Given the description of an element on the screen output the (x, y) to click on. 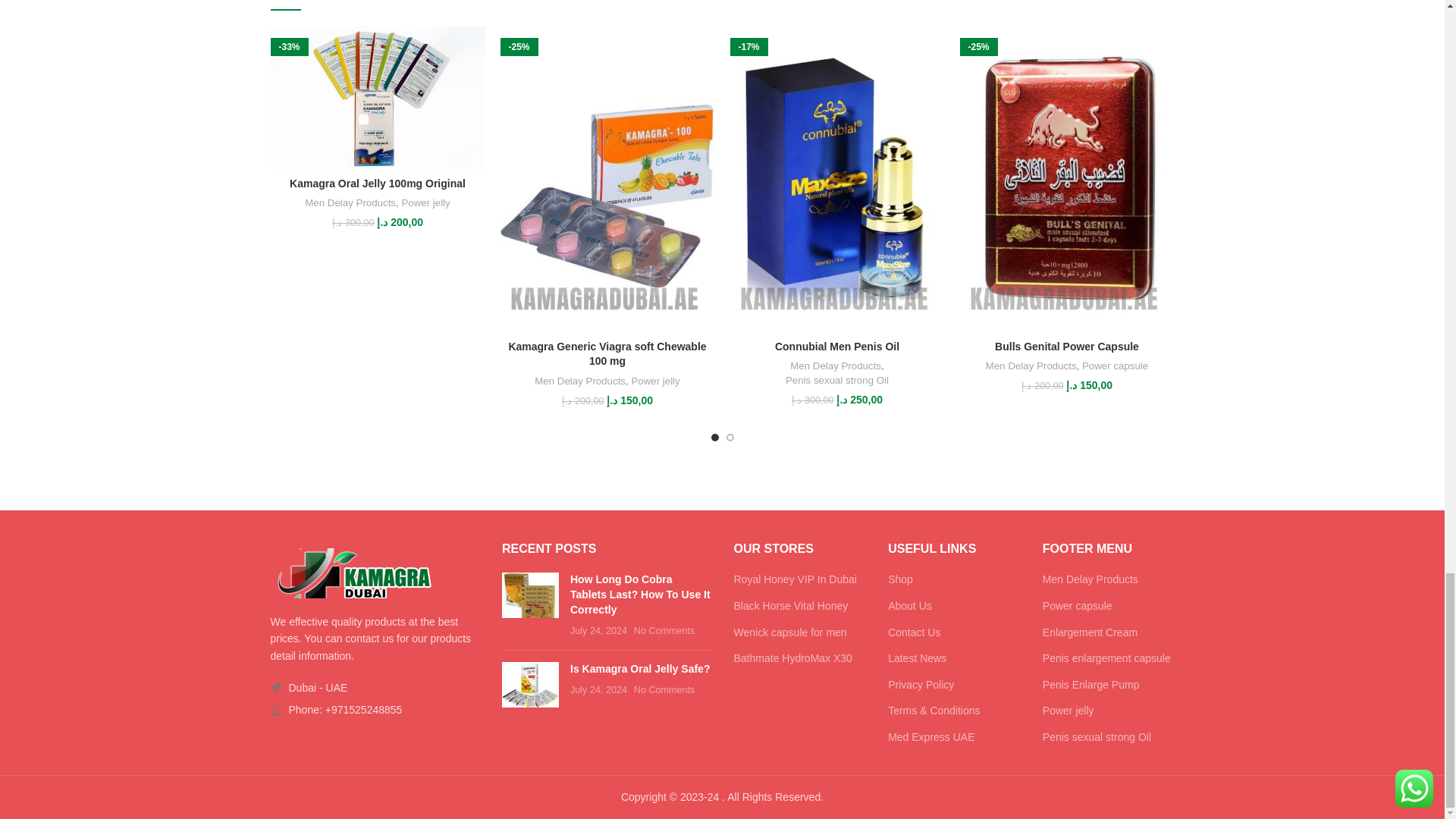
Permalink to Is Kamagra Oral Jelly Safe? (640, 668)
wd-phone-dark (275, 710)
wd-cursor-dark (275, 687)
